Given the description of an element on the screen output the (x, y) to click on. 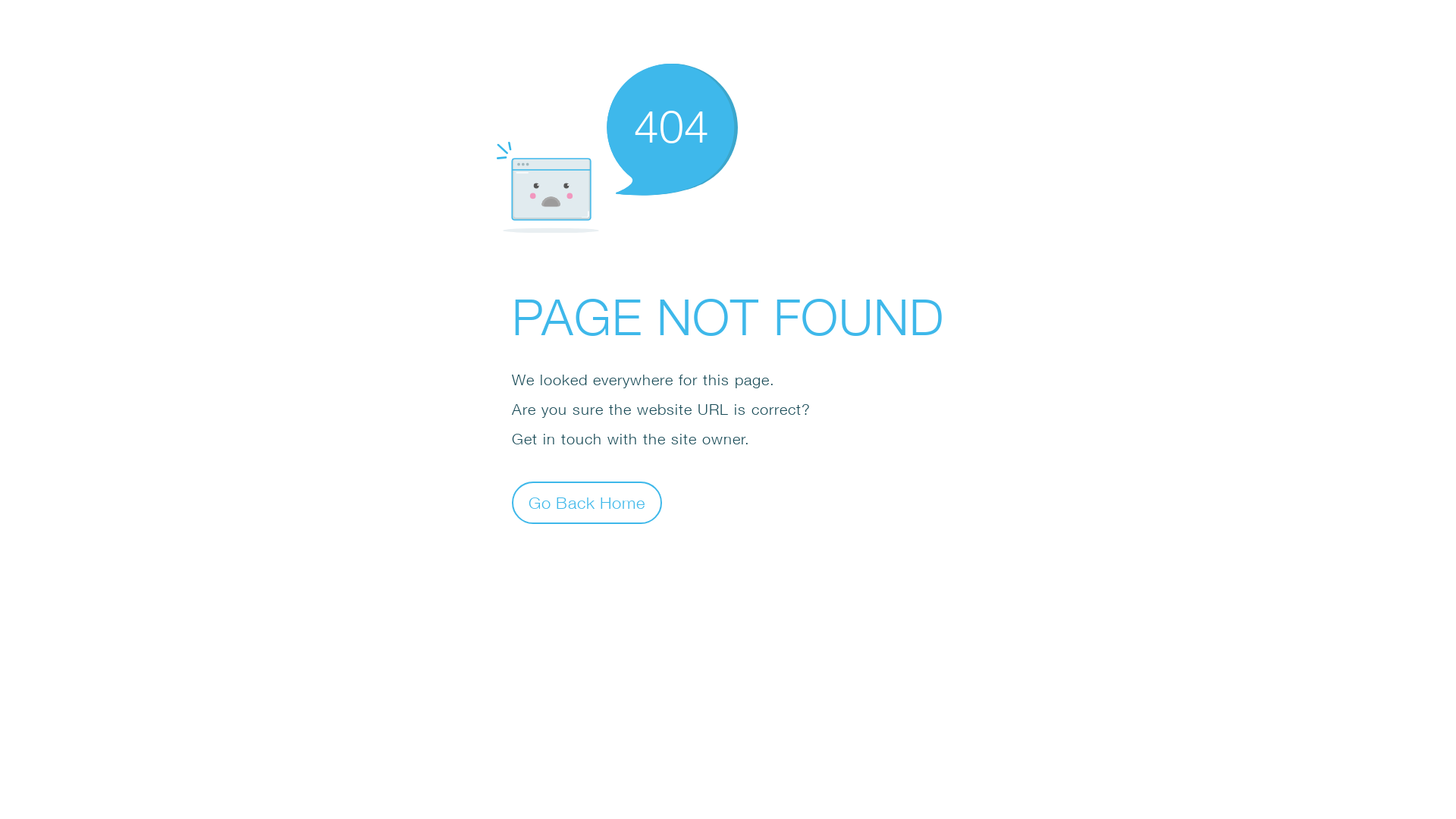
Go Back Home Element type: text (586, 502)
